Given the description of an element on the screen output the (x, y) to click on. 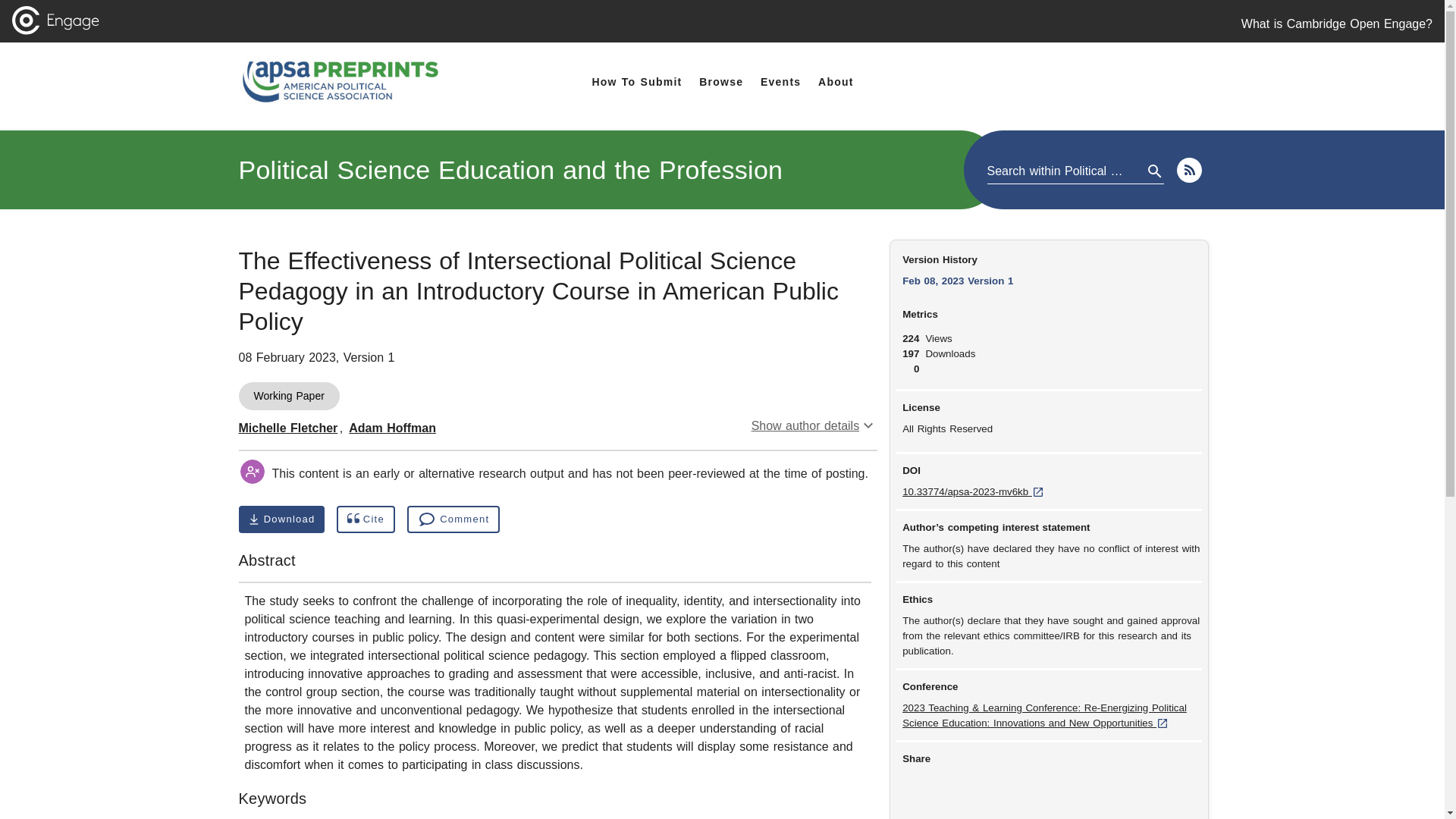
How To Submit (636, 81)
What is Cambridge Open Engage? (1336, 24)
Events (781, 81)
Michelle Fletcher (287, 427)
Browse (721, 81)
Comment (453, 519)
Cite (365, 519)
Show author details (814, 425)
About (510, 169)
Download (835, 81)
Adam Hoffman (280, 519)
